Given the description of an element on the screen output the (x, y) to click on. 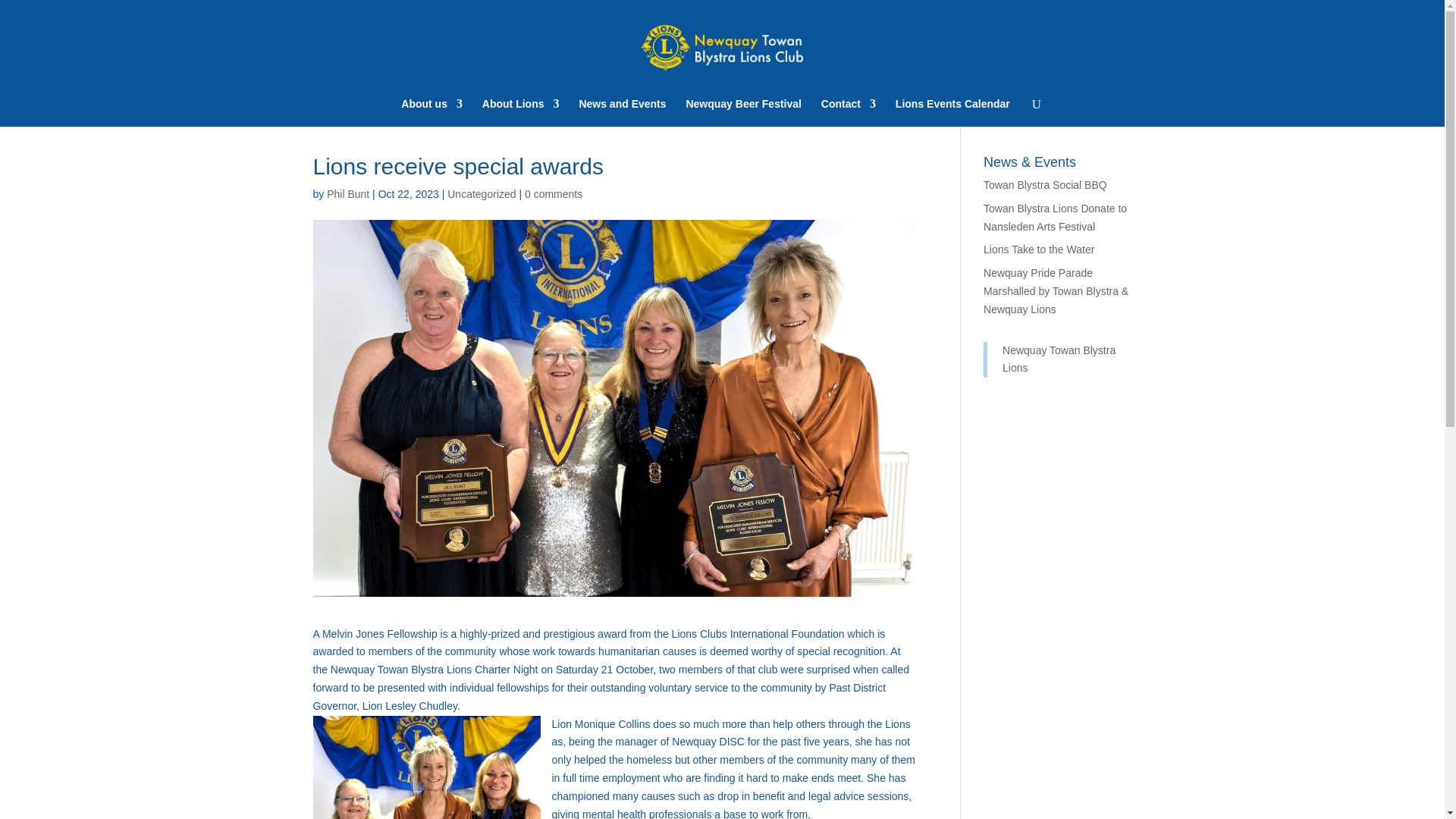
Phil Bunt (347, 193)
News and Events (621, 112)
About Lions (520, 112)
Lions Take to the Water (1039, 249)
Uncategorized (480, 193)
Posts by Phil Bunt (347, 193)
Towan Blystra Social BBQ (1045, 184)
Towan Blystra Lions Donate to Nansleden Arts Festival (1055, 217)
Lions Events Calendar (952, 112)
